Given the description of an element on the screen output the (x, y) to click on. 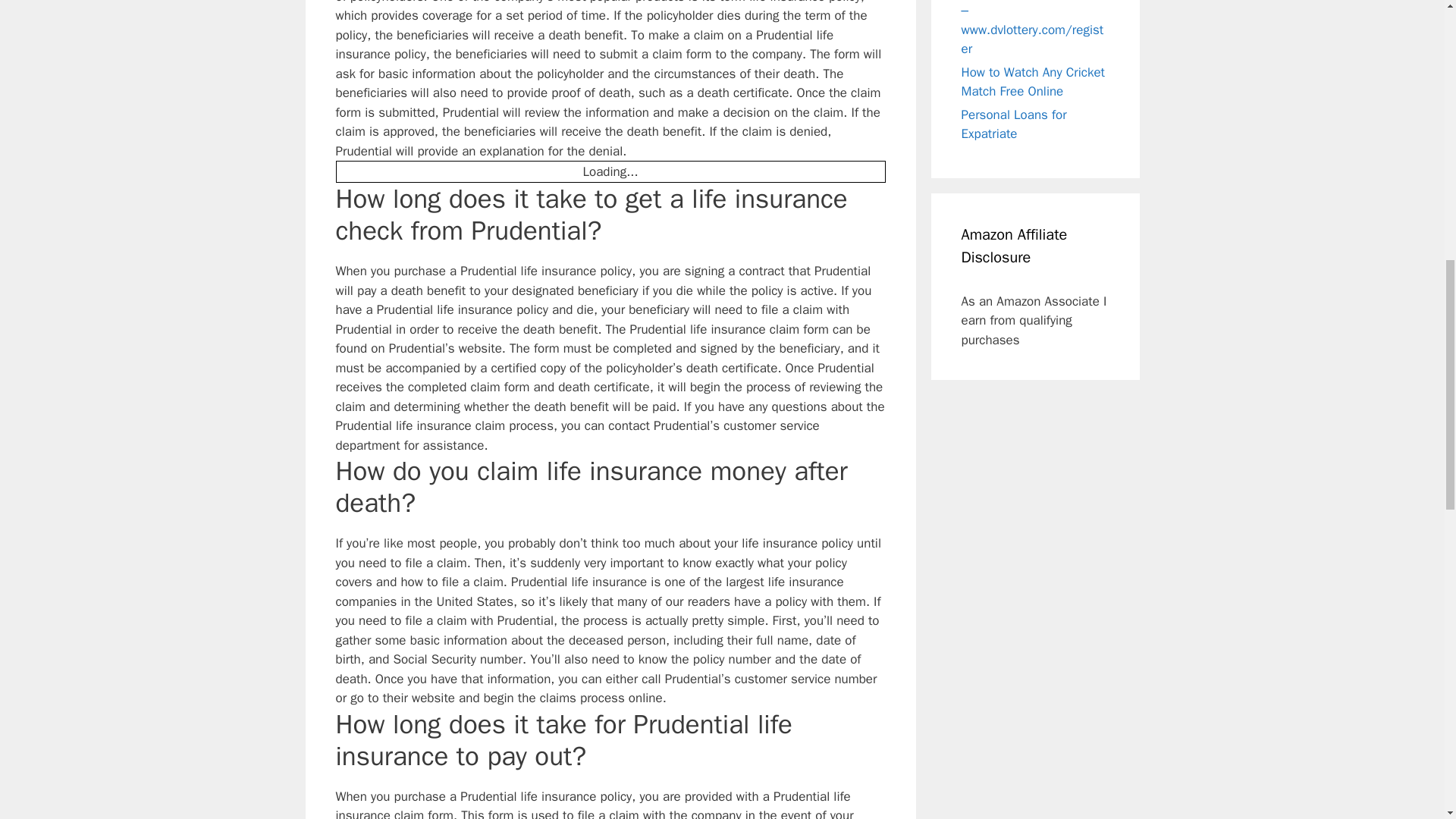
Personal Loans for Expatriate (1013, 123)
How to Watch Any Cricket Match Free Online (1032, 81)
